Given the description of an element on the screen output the (x, y) to click on. 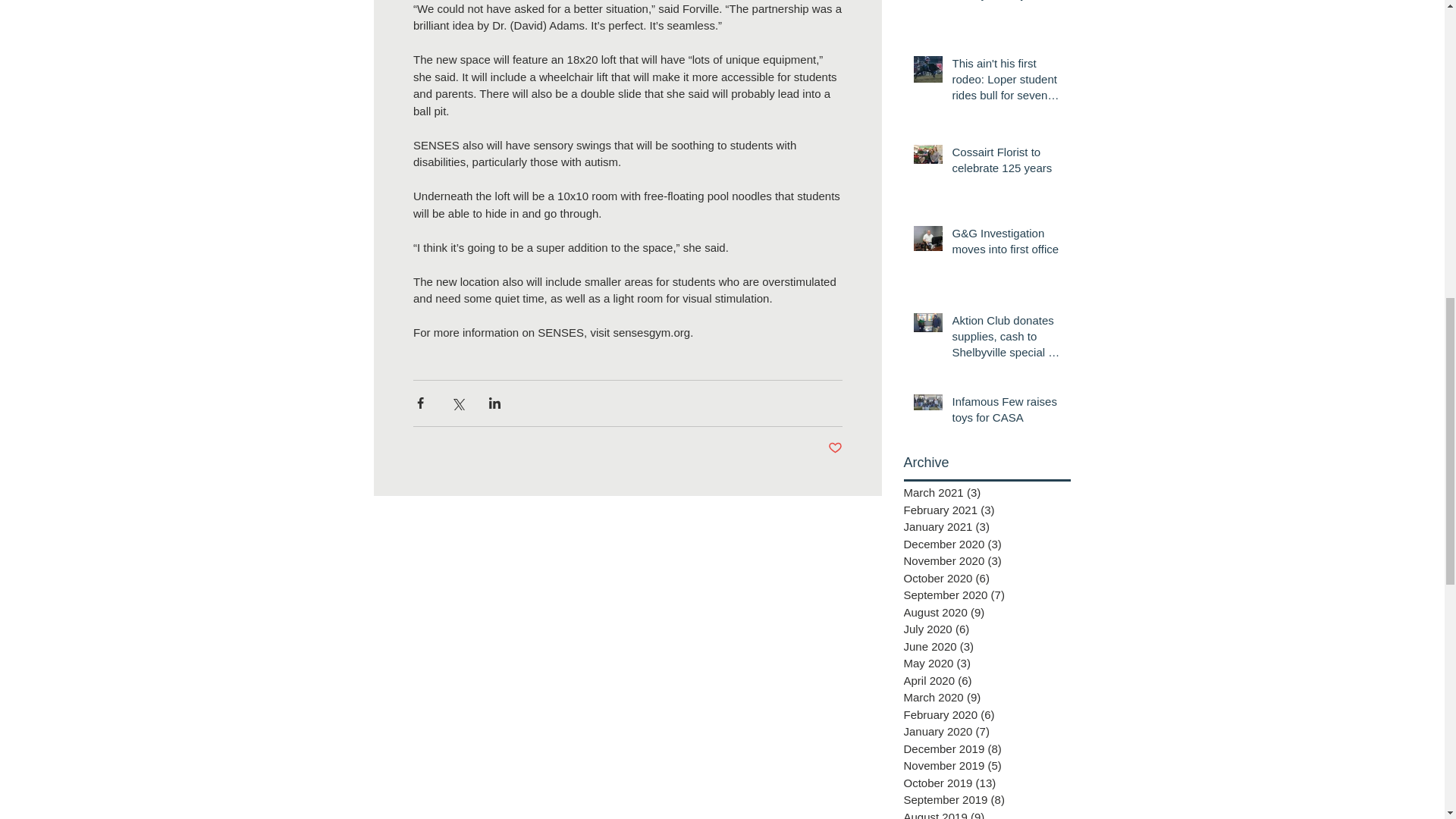
Post not marked as liked (835, 448)
Infamous Few raises toys for CASA (1006, 412)
Cossairt Florist to celebrate 125 years (1006, 162)
